Given the description of an element on the screen output the (x, y) to click on. 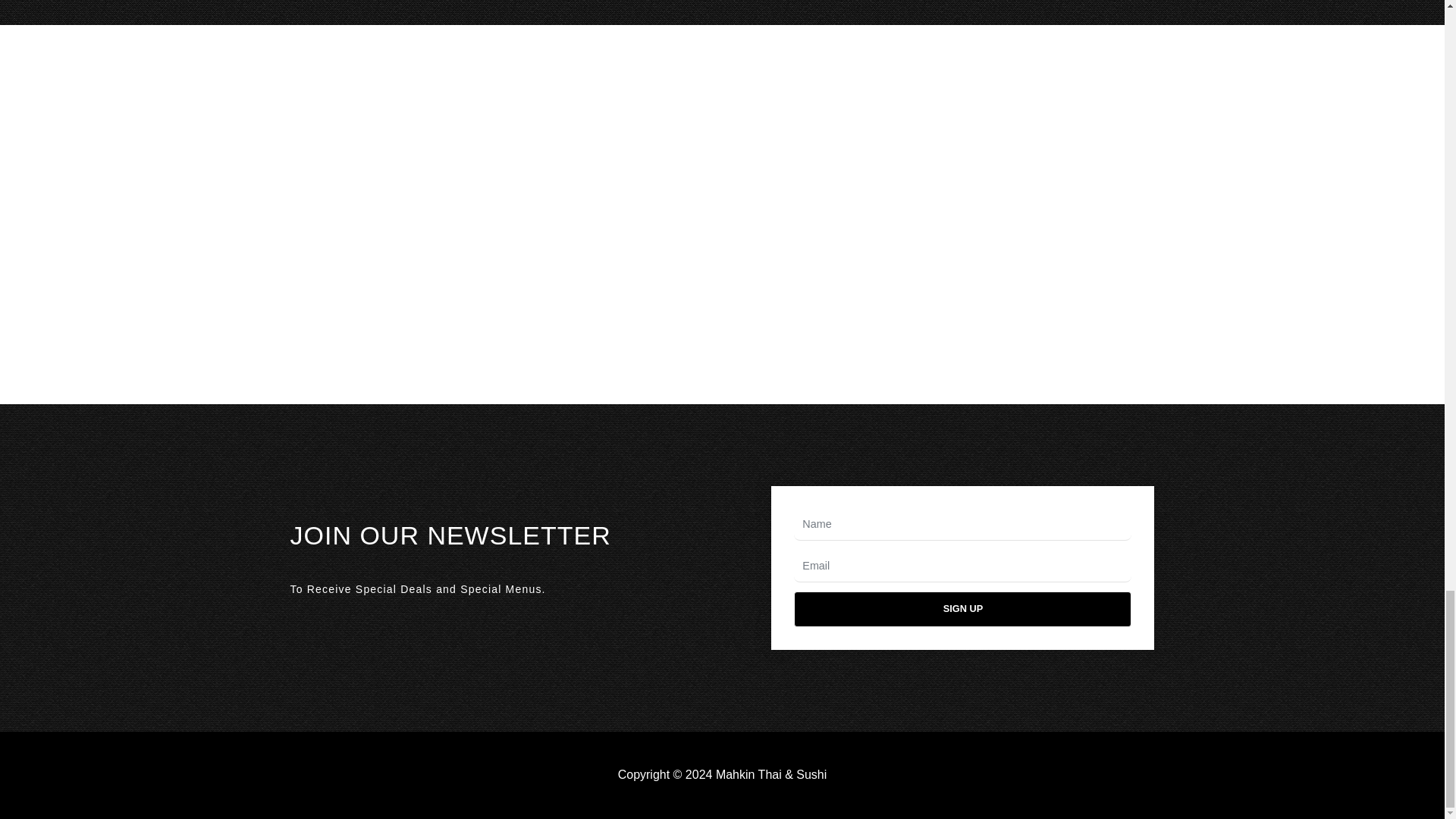
SIGN UP (962, 609)
